Given the description of an element on the screen output the (x, y) to click on. 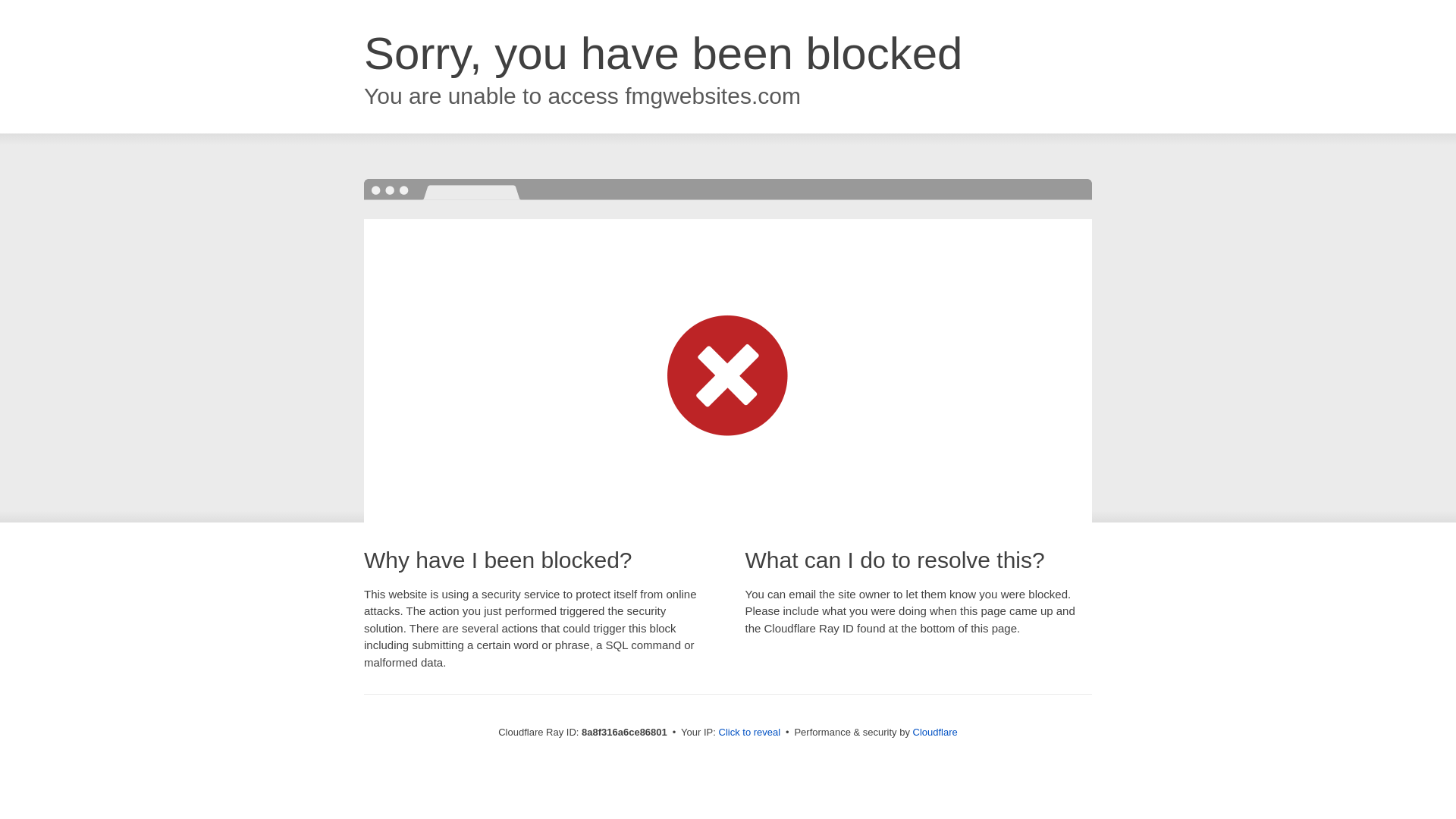
Cloudflare (935, 731)
Click to reveal (749, 732)
